Given the description of an element on the screen output the (x, y) to click on. 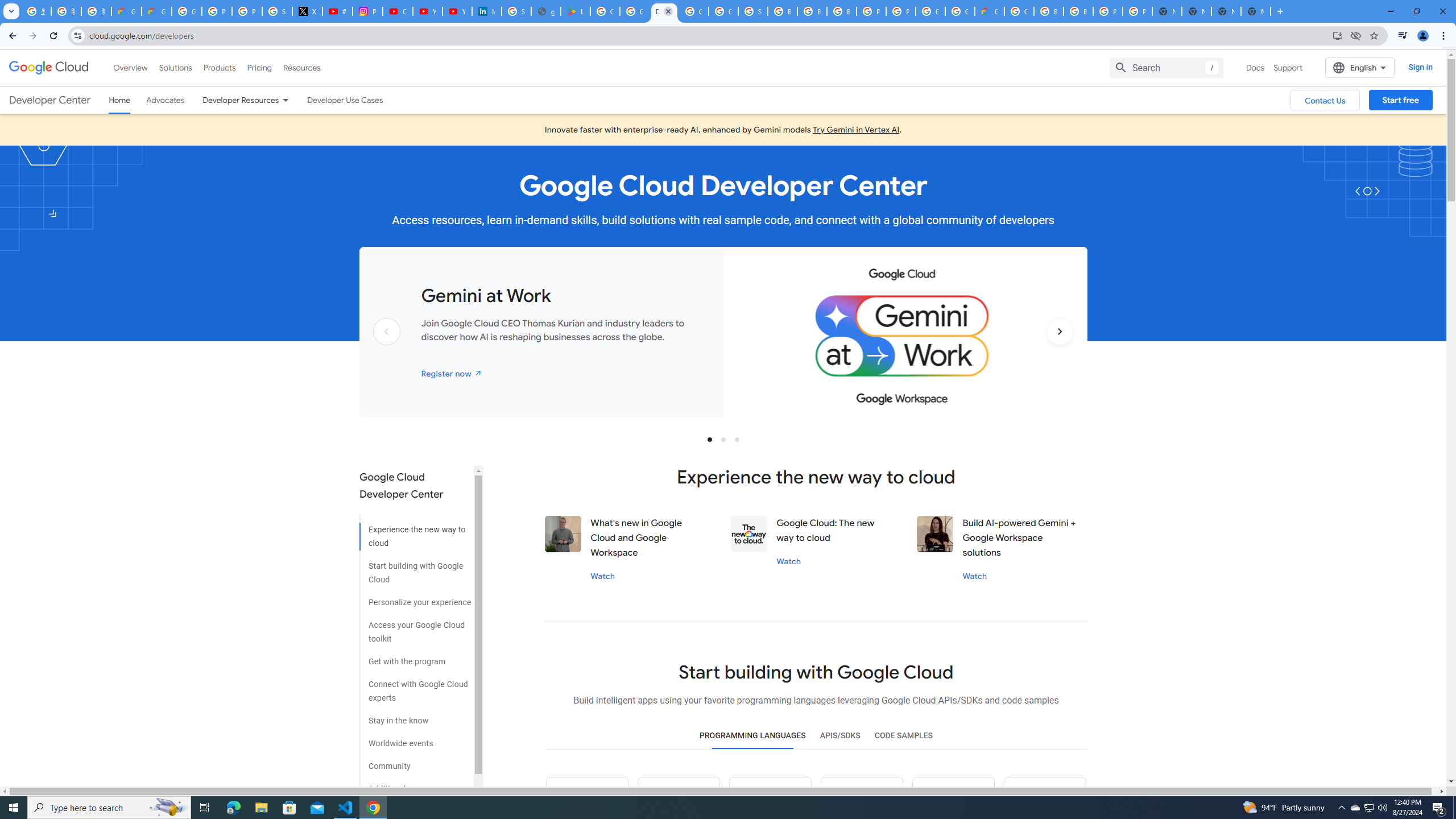
English (1359, 67)
CPP icon (1044, 798)
Slide 2 (722, 438)
google_privacy_policy_en.pdf (545, 11)
Register now (451, 372)
Install Google Cloud (1336, 35)
Java icon (678, 798)
Google Cloud (48, 67)
X (306, 11)
Next slide (1059, 349)
